Given the description of an element on the screen output the (x, y) to click on. 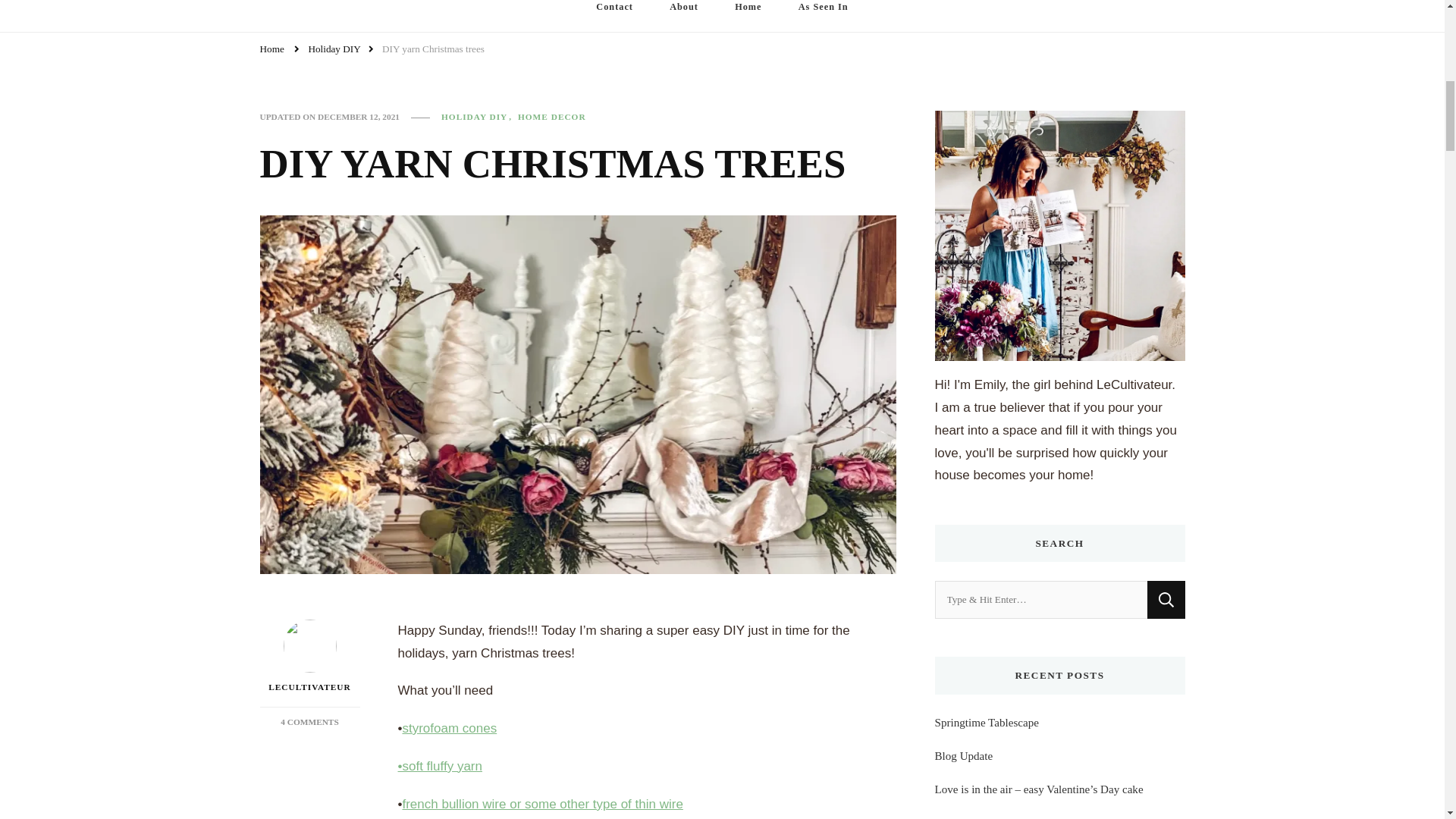
About (683, 15)
Home (271, 49)
DECEMBER 12, 2021 (357, 116)
LECULTIVATEUR (309, 657)
Contact (614, 15)
Search (1166, 599)
HOLIDAY DIY (309, 721)
Holiday DIY (478, 116)
HOME DECOR (333, 49)
styrofoam cones (552, 116)
french bullion wire or some other type of thin wire (448, 728)
Home (541, 803)
Search (747, 15)
DIY yarn Christmas trees (1166, 599)
